Given the description of an element on the screen output the (x, y) to click on. 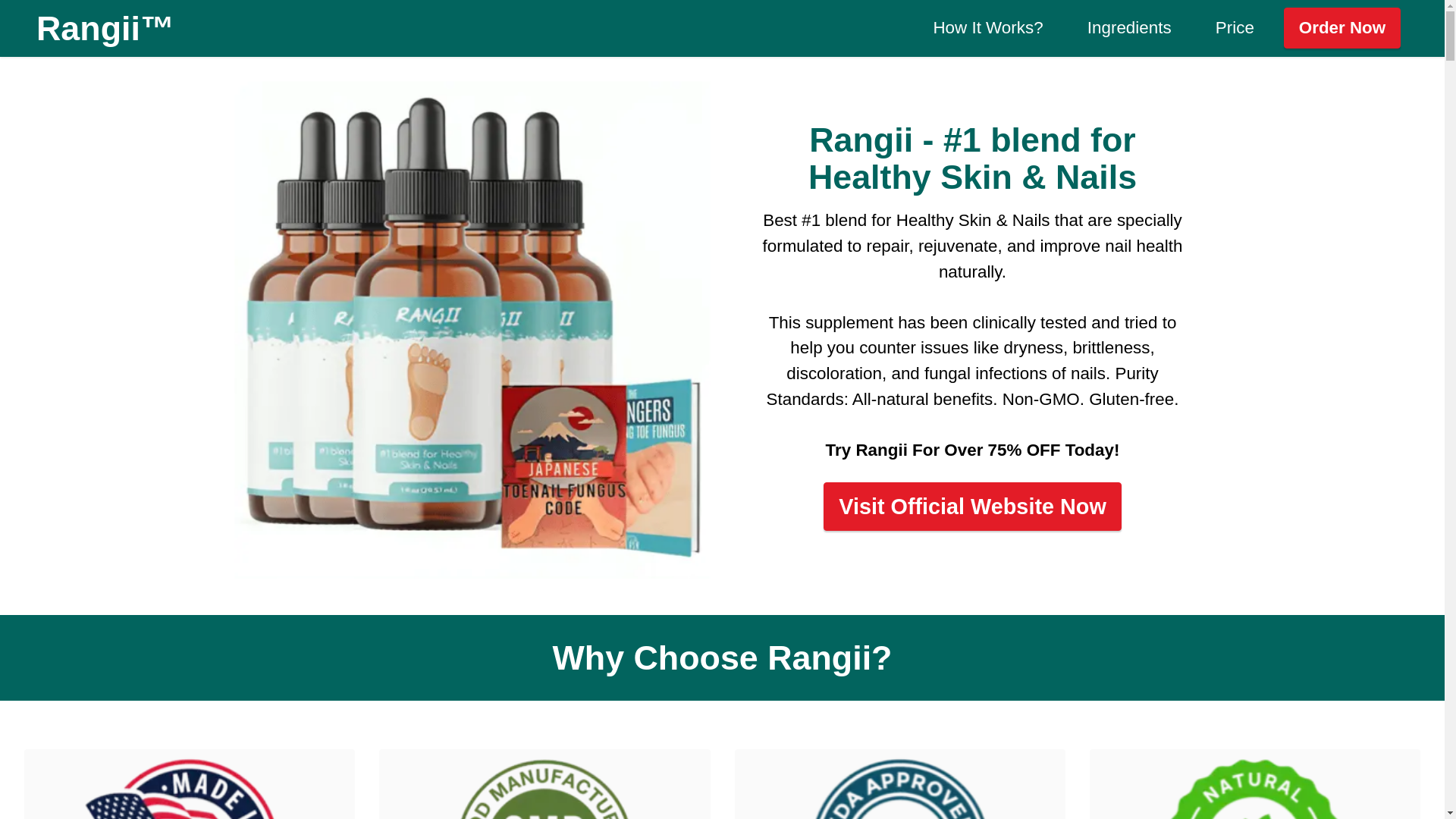
Visit Official Website Now (972, 517)
Price (1234, 27)
How It Works? (988, 27)
Ingredients (1128, 27)
Order Now (1342, 28)
